Given the description of an element on the screen output the (x, y) to click on. 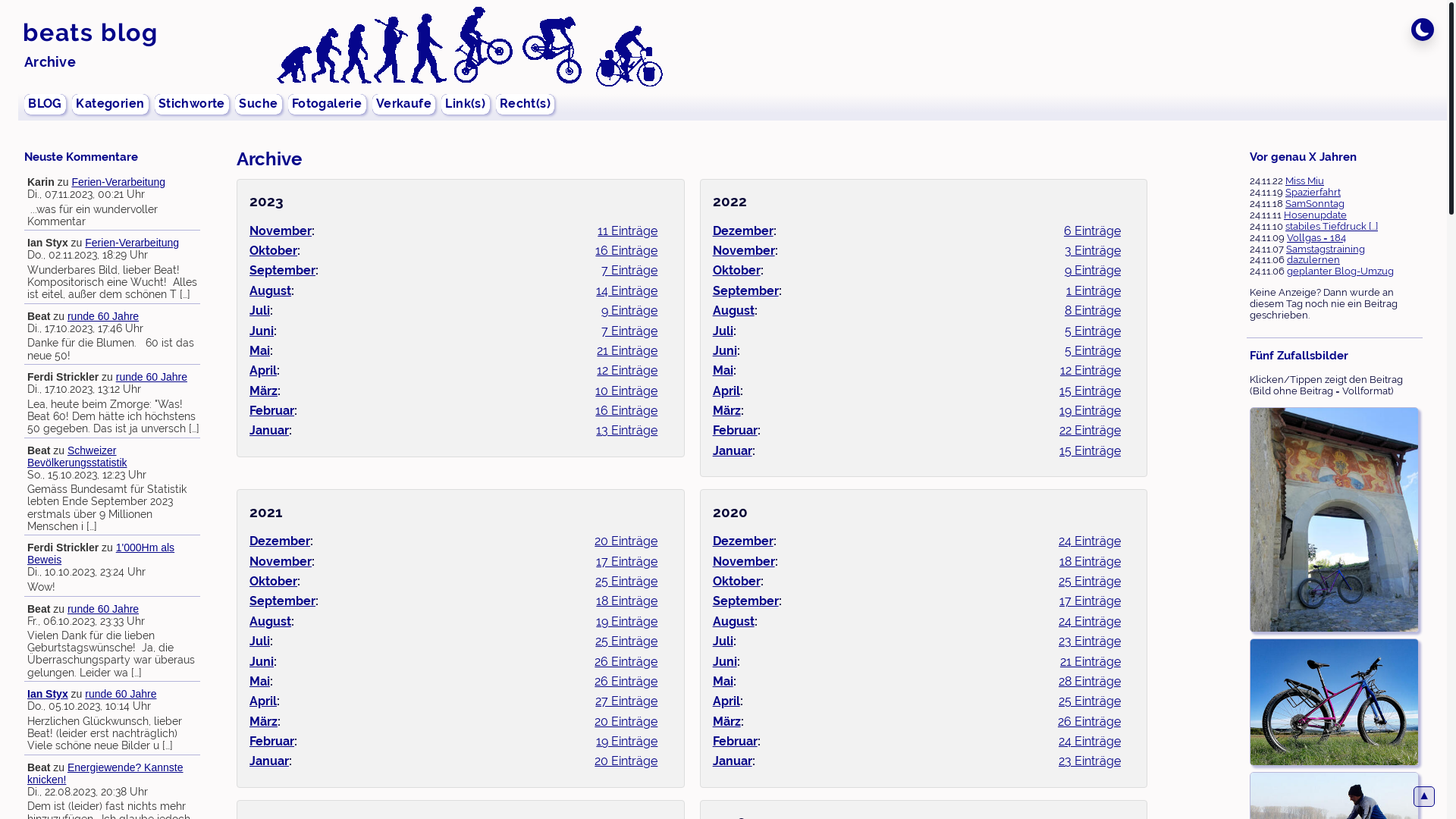
Juni Element type: text (724, 350)
Januar Element type: text (732, 760)
Juni Element type: text (724, 661)
zur Kyburg Element type: hover (1333, 521)
September Element type: text (745, 600)
Februar Element type: text (271, 410)
April Element type: text (726, 700)
November Element type: text (280, 230)
Fotosession Element type: hover (1333, 703)
Suche Element type: text (258, 103)
Link(s) Element type: text (465, 103)
Januar Element type: text (268, 760)
runde 60 Jahre Element type: text (102, 316)
November Element type: text (743, 561)
Ferien-Verarbeitung Element type: text (118, 181)
Juli Element type: text (722, 640)
August Element type: text (270, 621)
beats blog Element type: text (89, 32)
Januar Element type: text (268, 430)
Februar Element type: text (271, 741)
Oktober Element type: text (736, 581)
Juli Element type: text (259, 640)
Hosenupdate Element type: text (1314, 214)
runde 60 Jahre Element type: text (120, 693)
Archive Element type: text (49, 61)
Mai Element type: text (259, 681)
Miss Miu Element type: text (1304, 180)
1'000Hm als Beweis Element type: text (100, 553)
April Element type: text (262, 370)
Dezember Element type: text (742, 230)
April Element type: text (726, 390)
August Element type: text (733, 310)
Januar Element type: text (732, 450)
April Element type: text (262, 700)
geplanter Blog-Umzug Element type: text (1339, 270)
Dezember Element type: text (279, 540)
September Element type: text (745, 290)
stabiles Tiefdruck [...] Element type: text (1331, 226)
runde 60 Jahre Element type: text (151, 376)
Oktober Element type: text (273, 581)
Oktober Element type: text (273, 250)
Februar Element type: text (734, 741)
Kategorien Element type: text (110, 103)
Ian Styx Element type: text (47, 693)
Oktober Element type: text (736, 270)
September Element type: text (282, 270)
November Element type: text (743, 250)
Vollgas = 184 Element type: text (1316, 237)
August Element type: text (733, 621)
Juli Element type: text (722, 330)
BLOG Element type: text (44, 103)
September Element type: text (282, 600)
Juni Element type: text (261, 330)
November Element type: text (280, 561)
SamSonntag Element type: text (1314, 203)
Spazierfahrt Element type: text (1312, 191)
Dezember Element type: text (742, 540)
Mai Element type: text (722, 681)
Energiewende? Kannste knicken! Element type: text (105, 773)
August Element type: text (270, 290)
dazulernen Element type: text (1312, 259)
Stichworte Element type: text (191, 103)
runde 60 Jahre Element type: text (102, 608)
Juni Element type: text (261, 661)
Juli Element type: text (259, 310)
Mai Element type: text (722, 370)
Ferien-Verarbeitung Element type: text (131, 242)
Samstagstraining Element type: text (1325, 248)
Mai Element type: text (259, 350)
Fotogalerie Element type: text (327, 103)
Februar Element type: text (734, 430)
Verkaufe Element type: text (404, 103)
Recht(s) Element type: text (525, 103)
Theme: Dark (Browser preferences|Session override) Element type: hover (1422, 29)
